Given the description of an element on the screen output the (x, y) to click on. 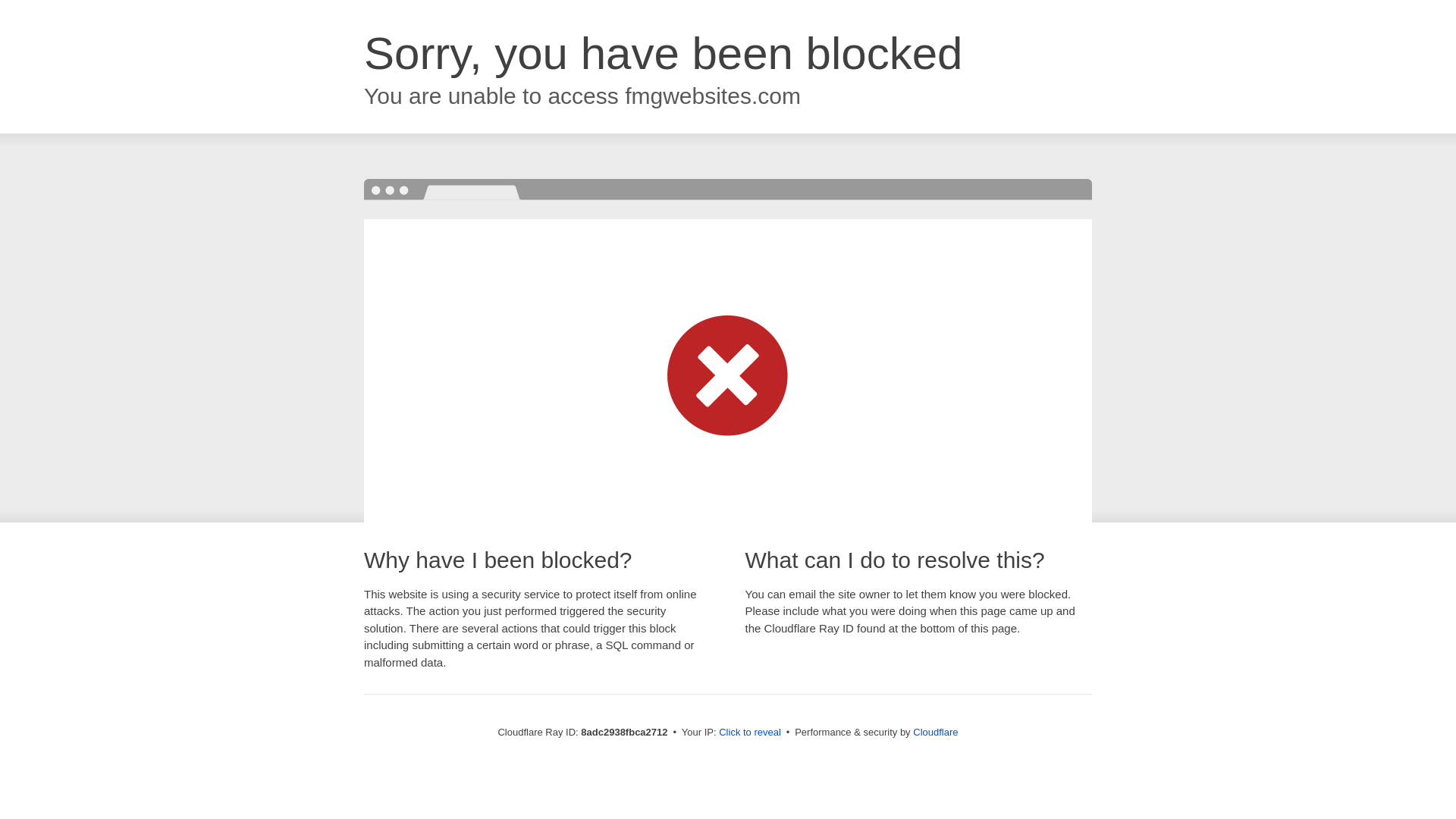
Click to reveal (749, 732)
Cloudflare (935, 731)
